Given the description of an element on the screen output the (x, y) to click on. 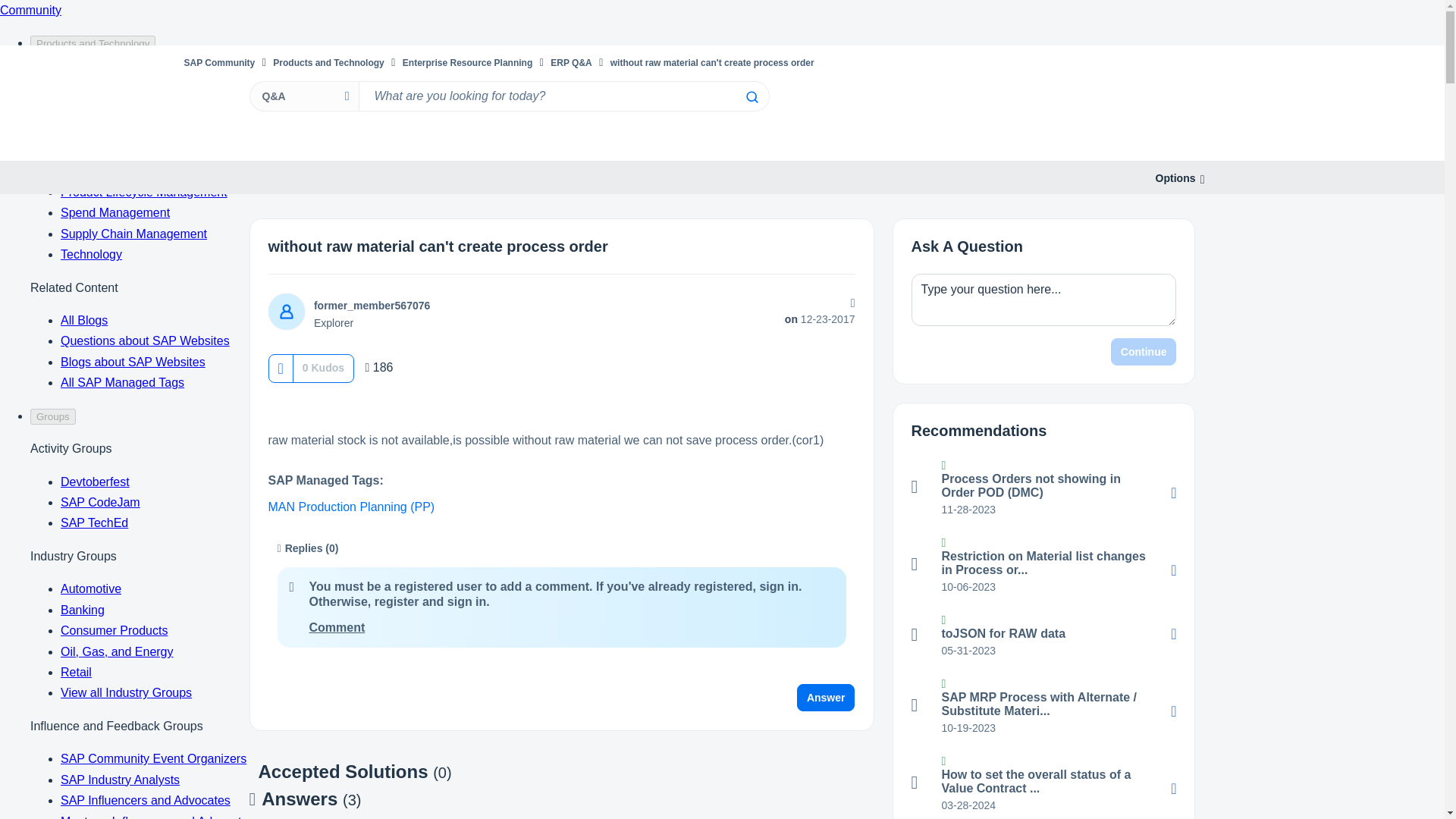
Search Granularity (303, 96)
Search (750, 96)
Show option menu (1176, 178)
Options (1176, 178)
Search (750, 96)
Continue (1143, 351)
Search (750, 96)
Answer (826, 697)
SAP Community (218, 62)
Products and Technology (328, 62)
Comment (336, 626)
Search (563, 96)
The total number of kudos this post has received. (323, 367)
Enterprise Resource Planning (467, 62)
Click here to give kudos to this post. (279, 367)
